Given the description of an element on the screen output the (x, y) to click on. 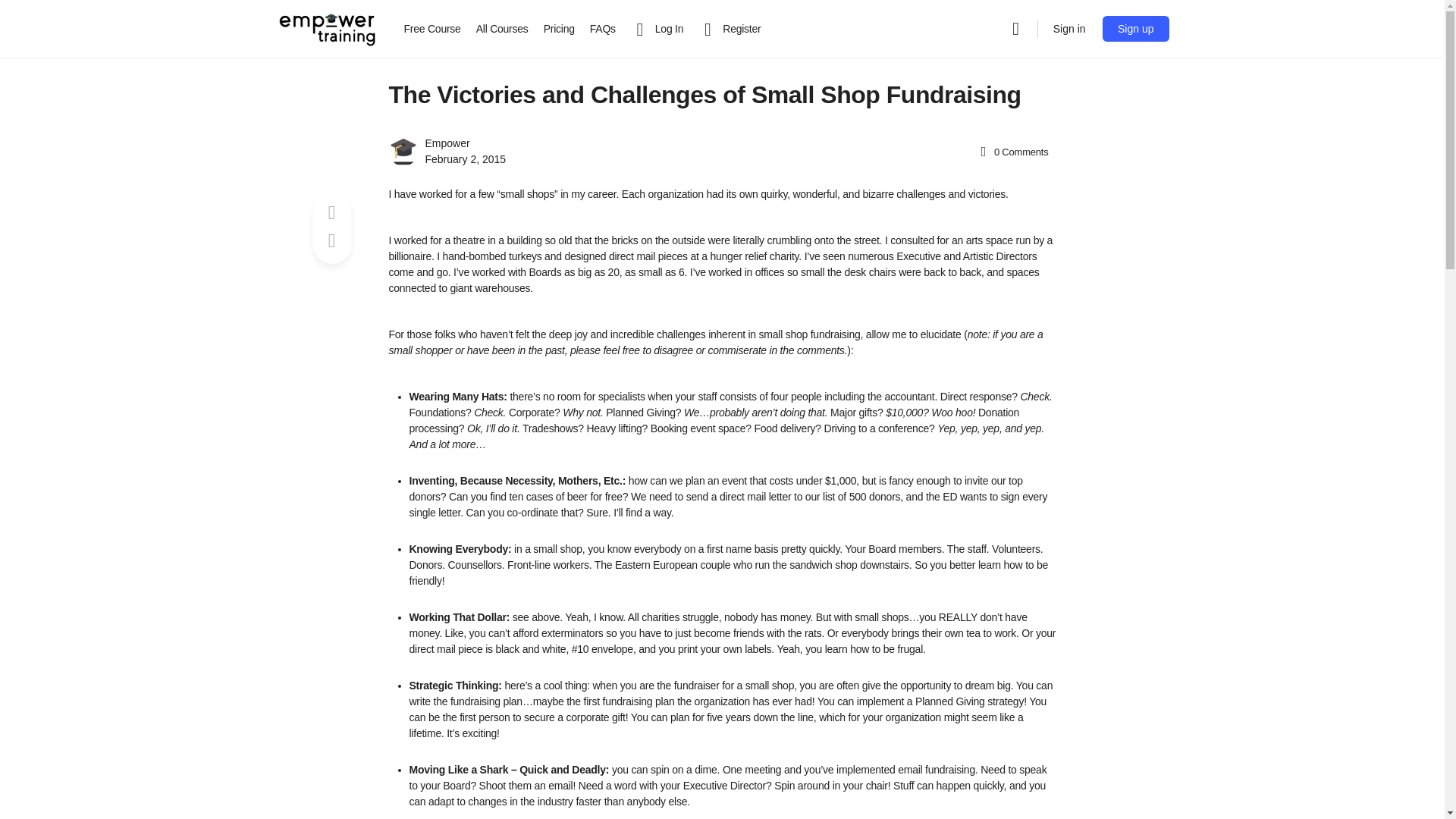
Register (729, 28)
Free Course (431, 28)
0 Comments (1013, 152)
Sign in (1068, 28)
All Courses (502, 28)
Log In (656, 28)
Empower (446, 143)
Sign up (1135, 28)
February 2, 2015 (465, 159)
